Given the description of an element on the screen output the (x, y) to click on. 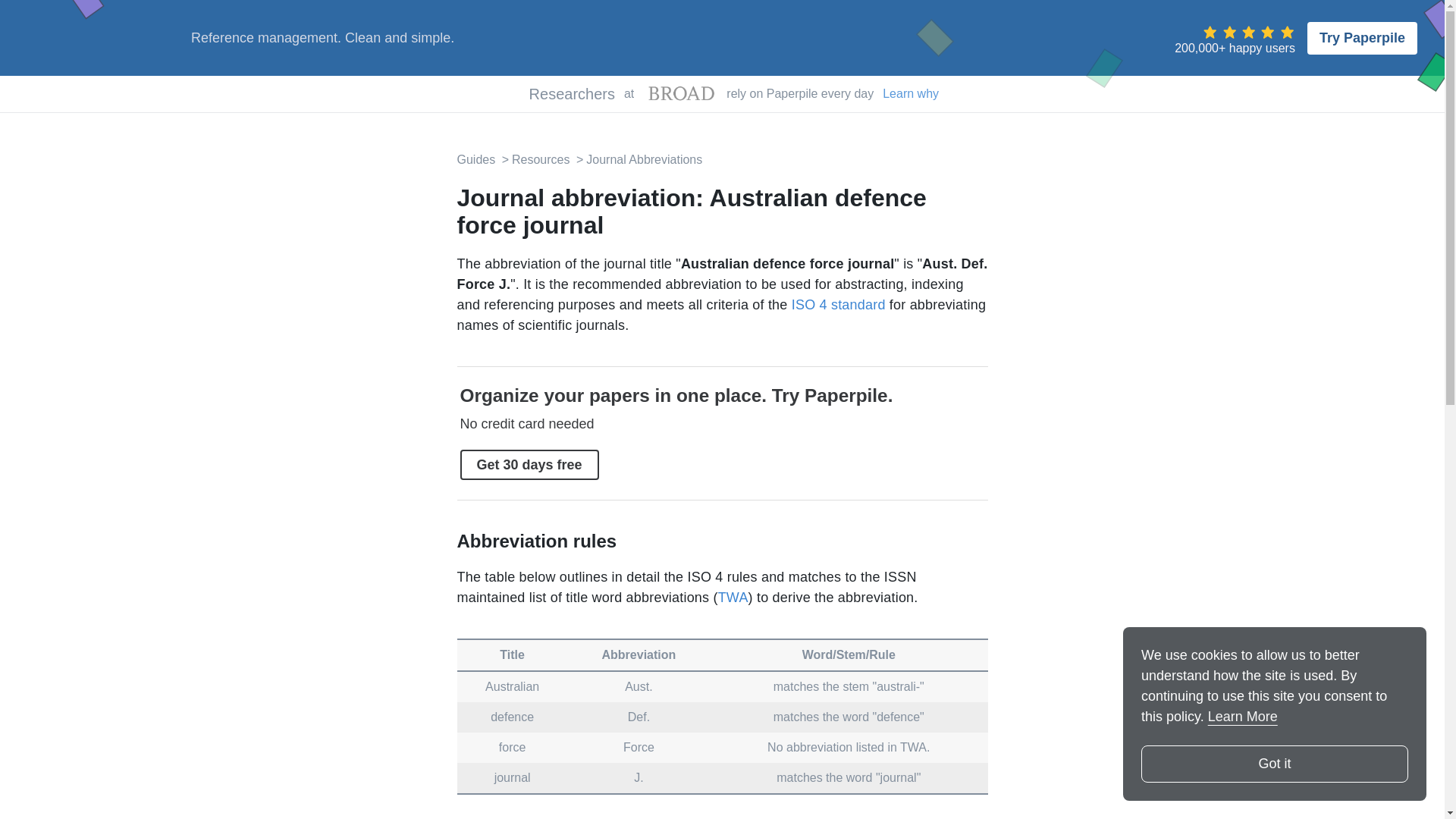
Get 30 days free (529, 464)
Learn More (1243, 716)
ISO 4 standard (838, 304)
Reference management. Clean and simple. (322, 37)
Guides (476, 159)
TWA (732, 597)
Learn why (910, 93)
Journal Abbreviations (637, 159)
Try Paperpile (1361, 37)
Resources (534, 159)
